Given the description of an element on the screen output the (x, y) to click on. 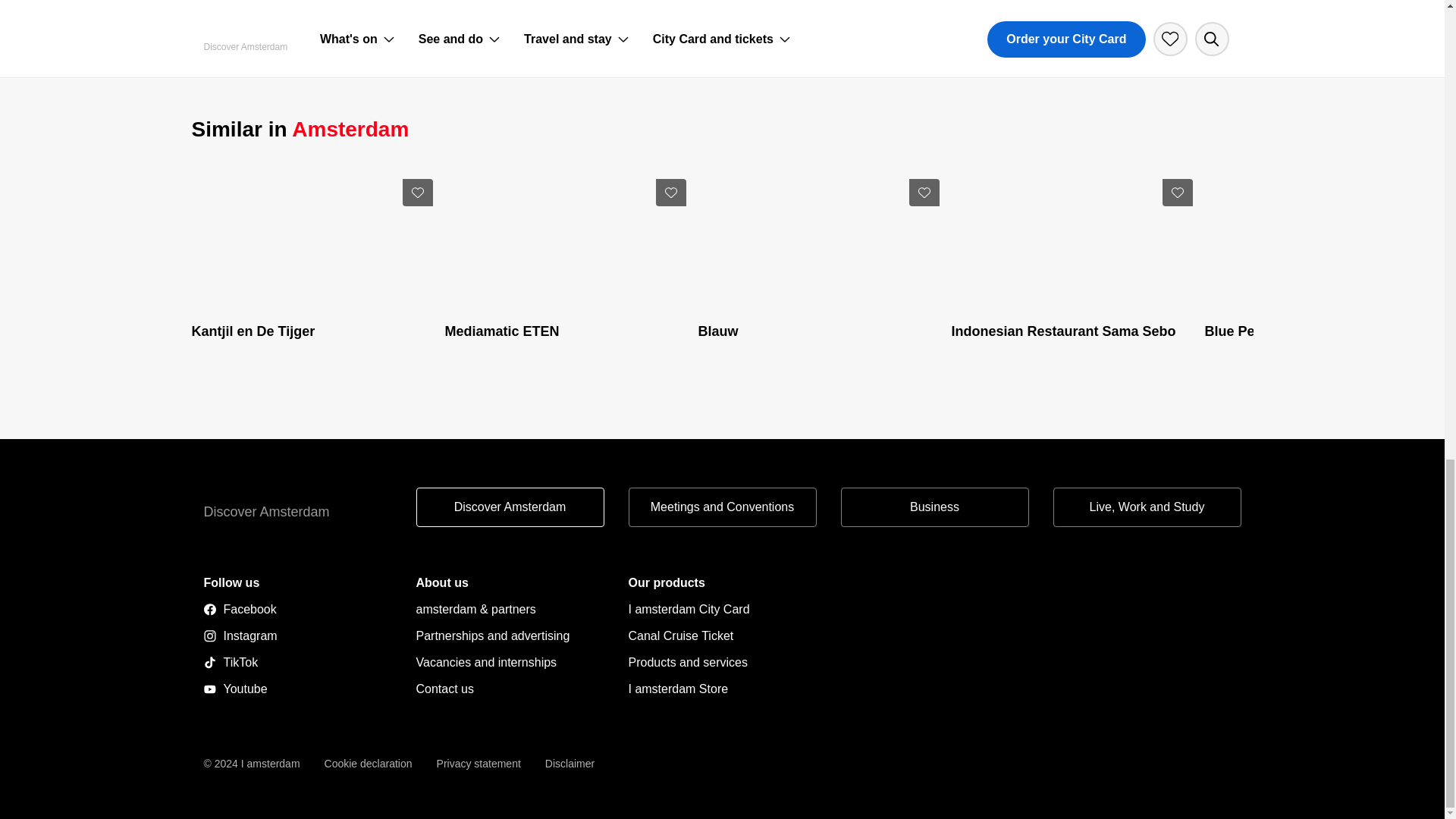
Add to favourites (670, 192)
Add to favourites (923, 192)
Add to favourites (416, 192)
facebook (297, 608)
Add to favourites (1176, 192)
